Given the description of an element on the screen output the (x, y) to click on. 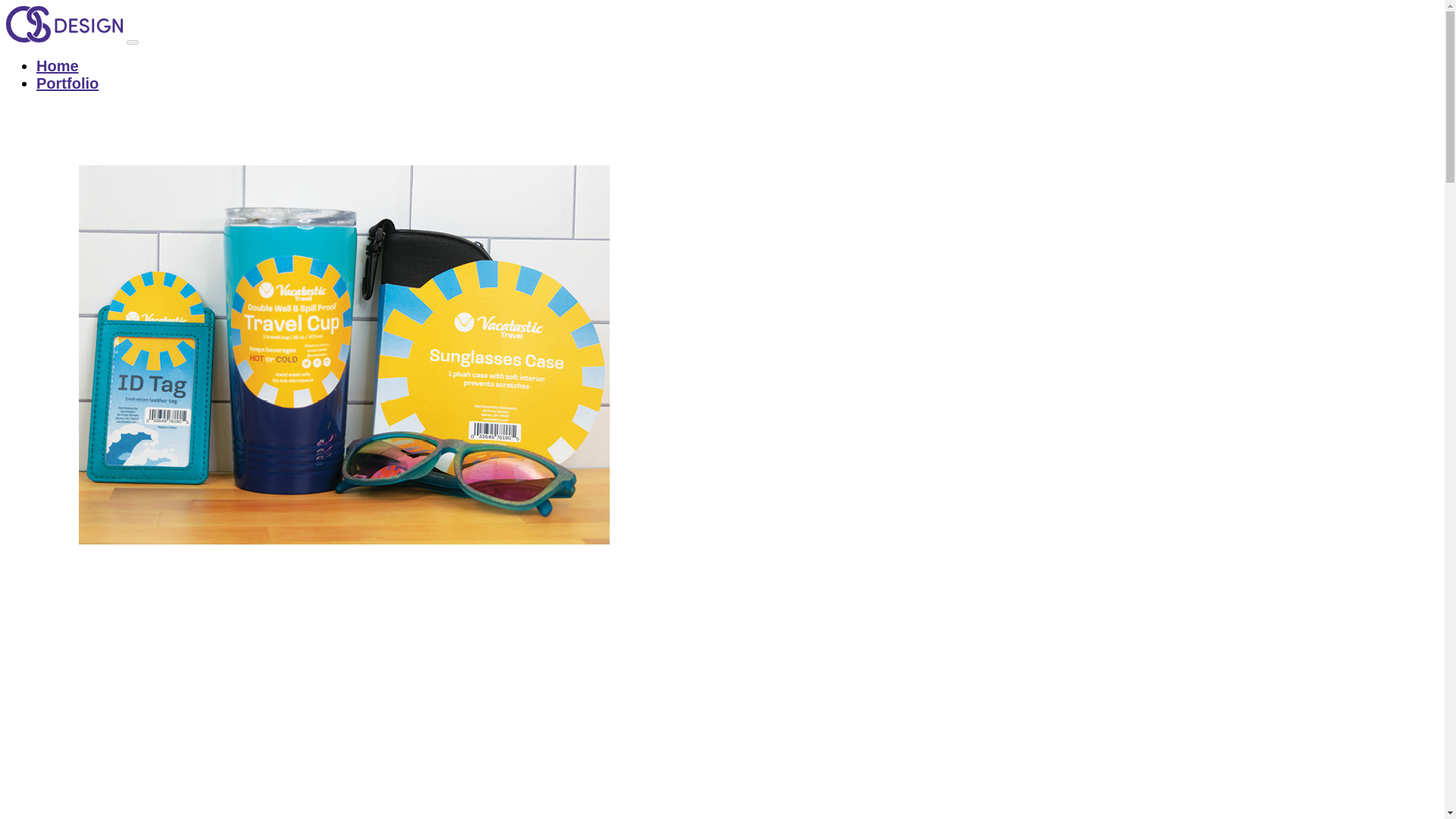
Home (57, 65)
Portfolio (67, 83)
